Given the description of an element on the screen output the (x, y) to click on. 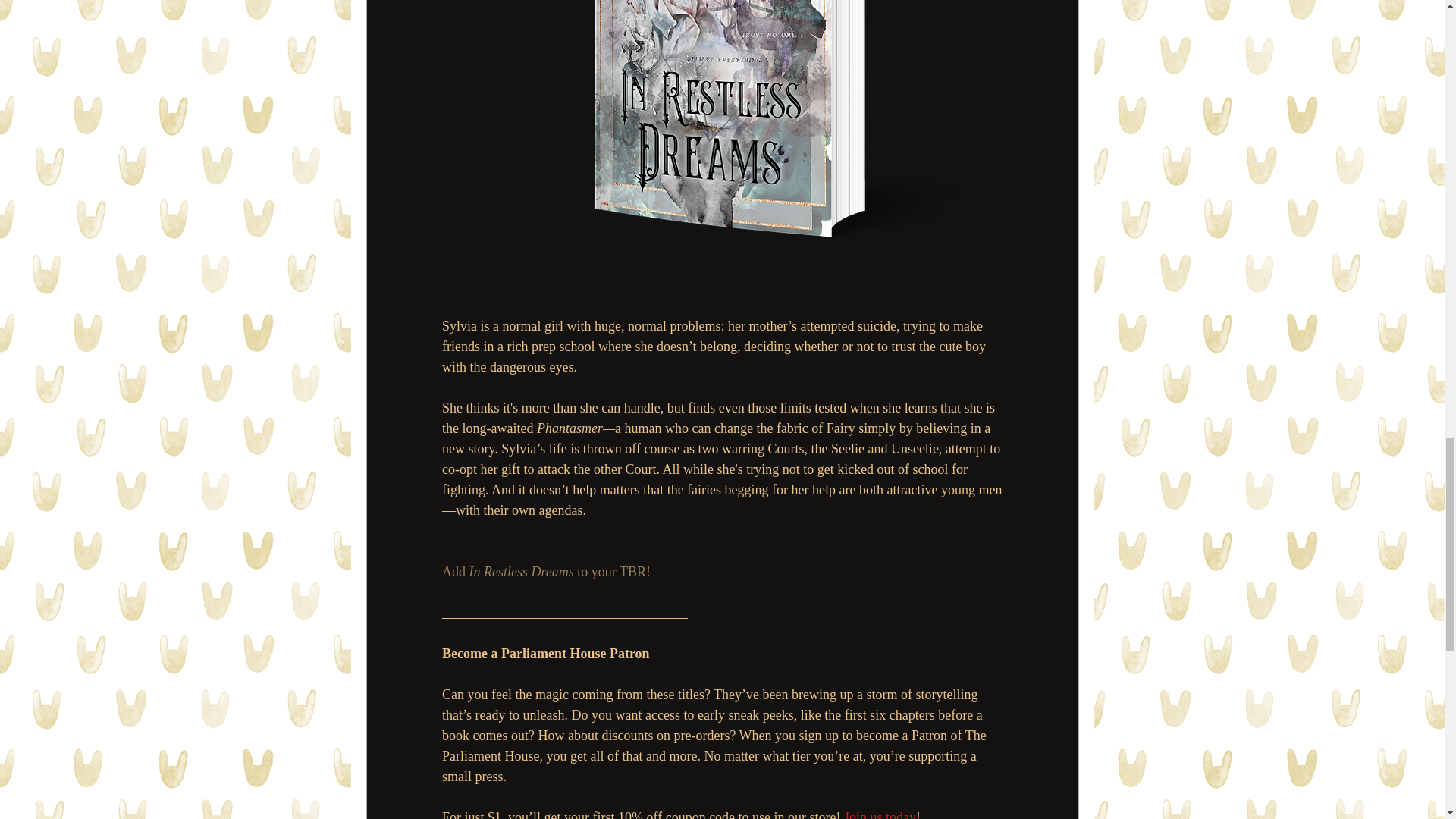
Join us today (879, 814)
Add  (454, 571)
 to your TBR! (611, 571)
In Restless Dreams (520, 571)
